Given the description of an element on the screen output the (x, y) to click on. 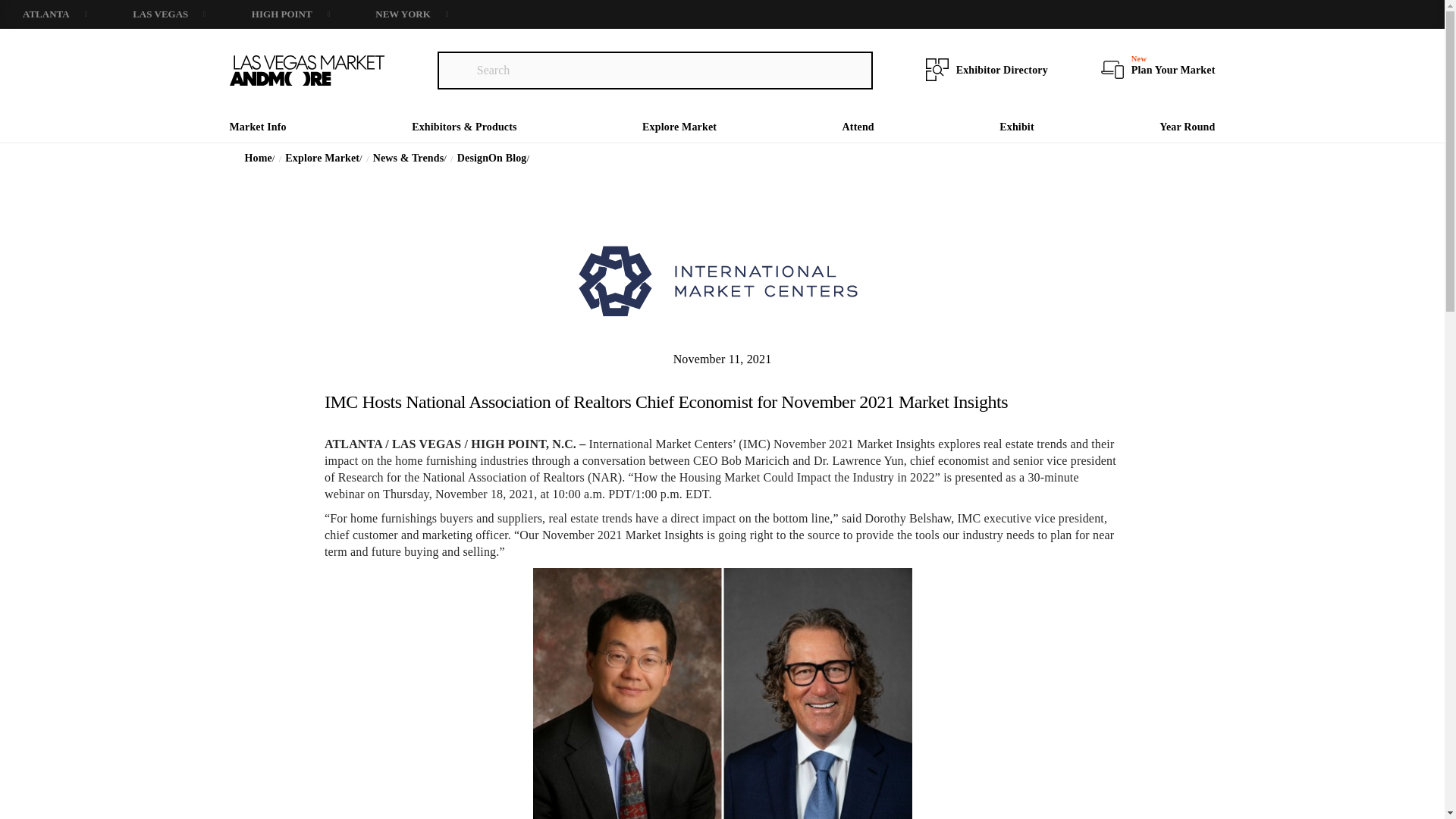
Clear SearchClear the Search Form (855, 70)
Clear SearchClear the Search Form (855, 70)
Clear SearchClear the Search Form (455, 70)
Explore Market (679, 126)
Year Round (1186, 126)
HIGH POINT (290, 14)
DesignOn Blog (493, 157)
Clear SearchClear the Search Form (455, 70)
ATLANTA (55, 14)
Attend (859, 126)
Market Info (256, 126)
Home (259, 157)
LAS VEGAS (169, 14)
Exhibit (1015, 126)
Plan Your Market (1173, 70)
